Given the description of an element on the screen output the (x, y) to click on. 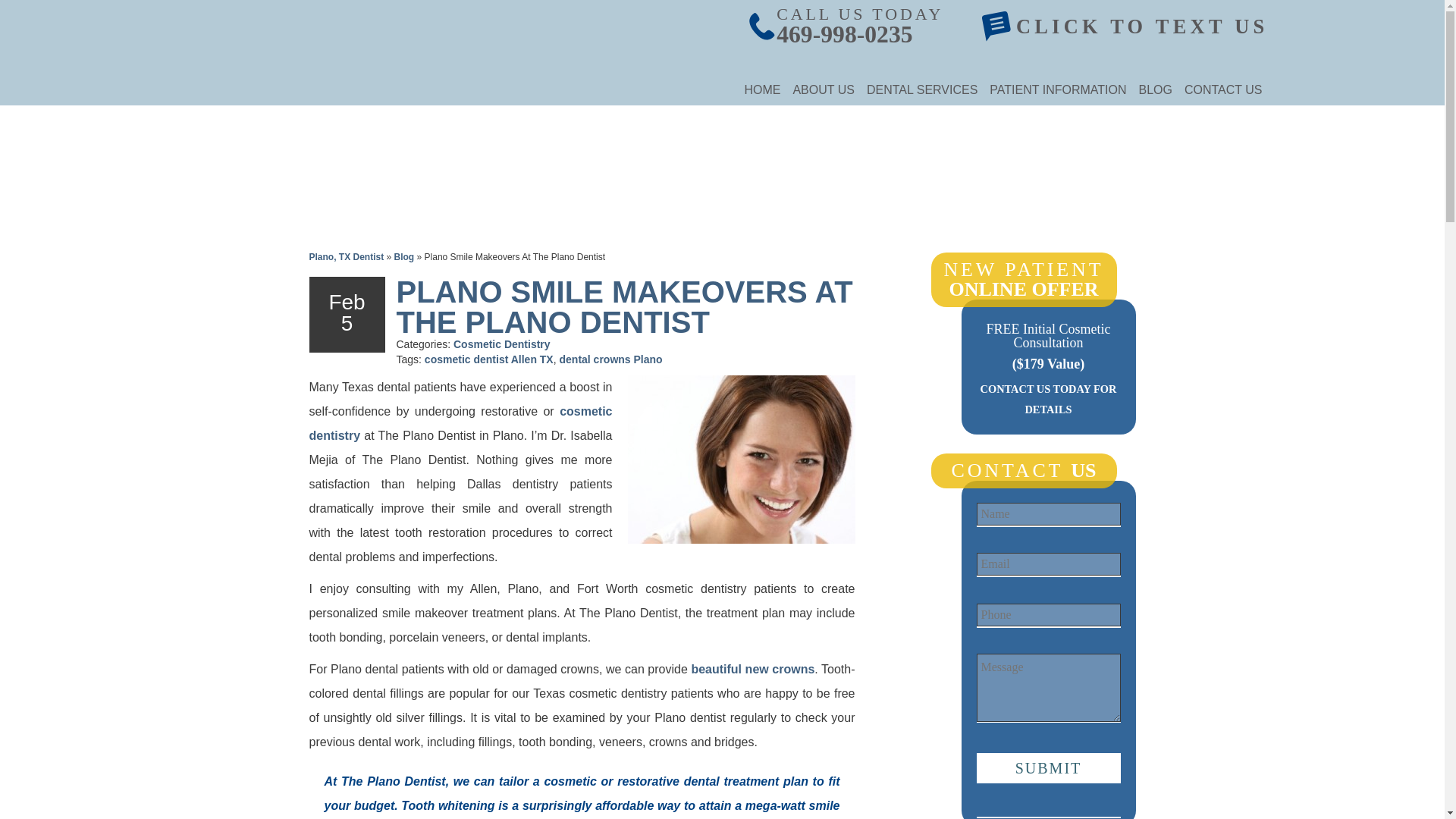
The Plano Dentist (231, 98)
ABOUT US (823, 90)
DENTAL SERVICES (922, 90)
CLICK TO TEXT US (1142, 26)
Submit (1048, 767)
HOME (762, 90)
469-998-0235 (844, 34)
